Given the description of an element on the screen output the (x, y) to click on. 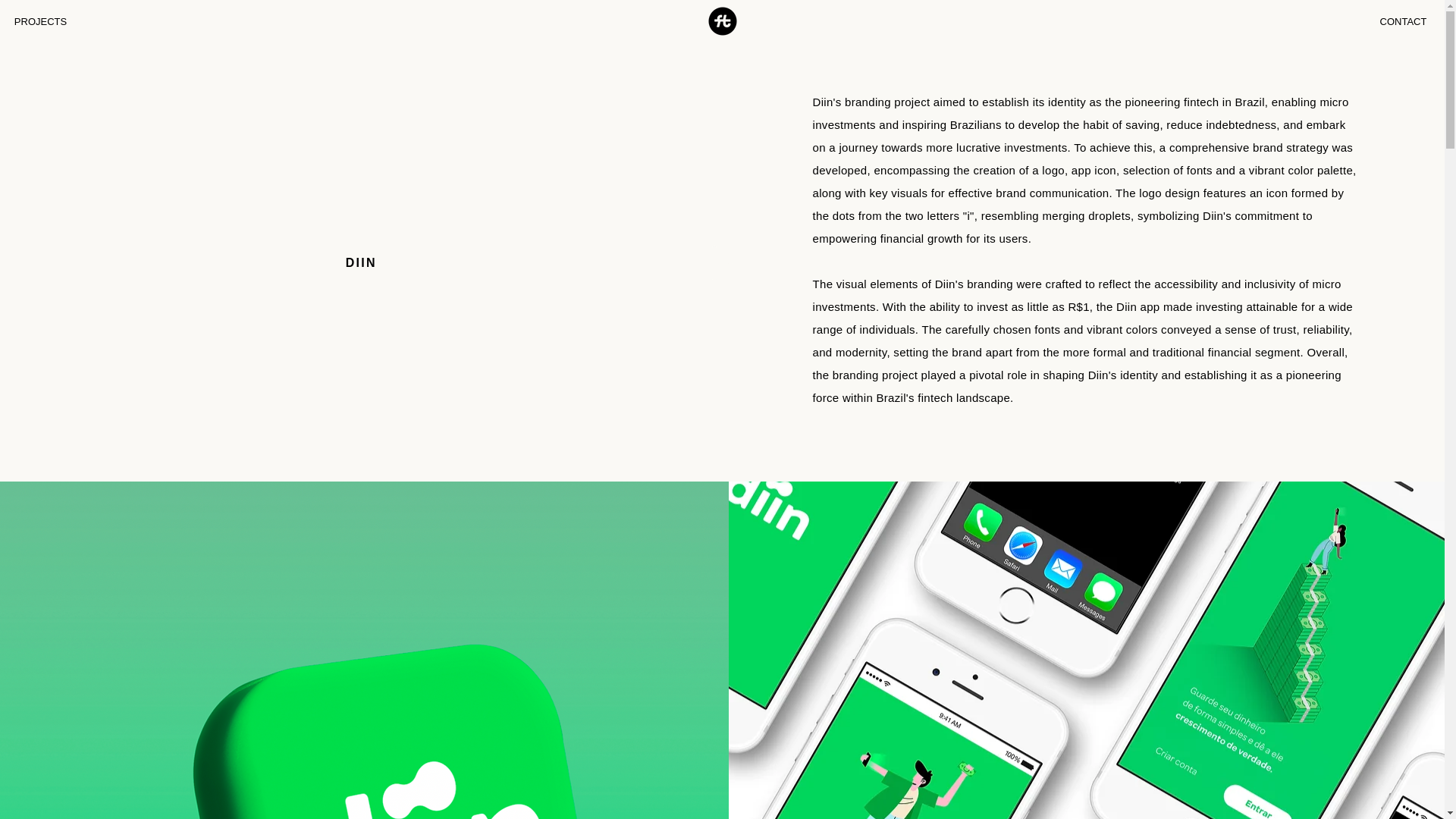
PROJECTS (42, 21)
